Given the description of an element on the screen output the (x, y) to click on. 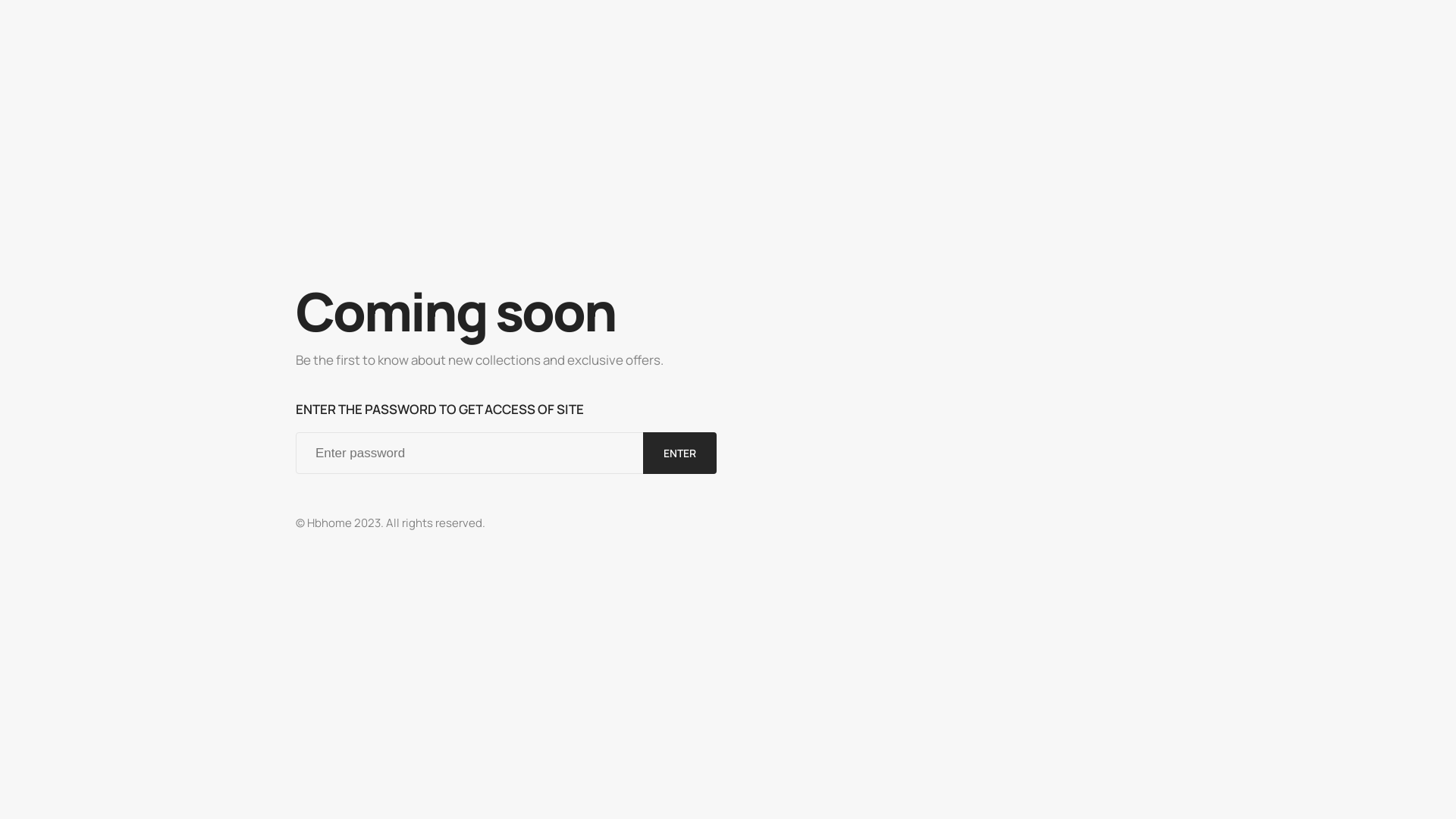
ENTER Element type: text (679, 452)
